Given the description of an element on the screen output the (x, y) to click on. 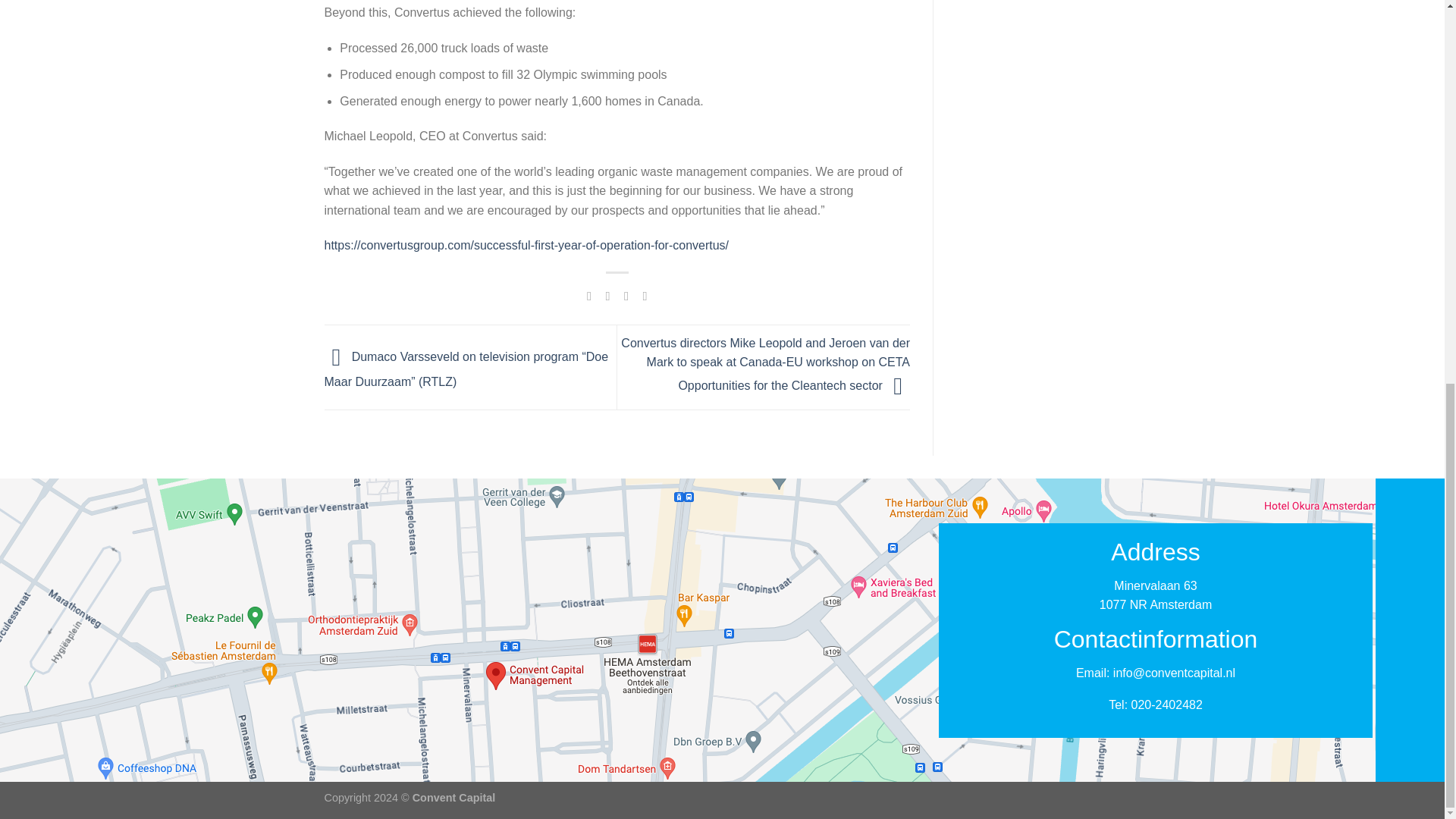
Email to a Friend (625, 295)
Share on Twitter (606, 295)
Share on Facebook (589, 295)
Share on LinkedIn (644, 295)
